Given the description of an element on the screen output the (x, y) to click on. 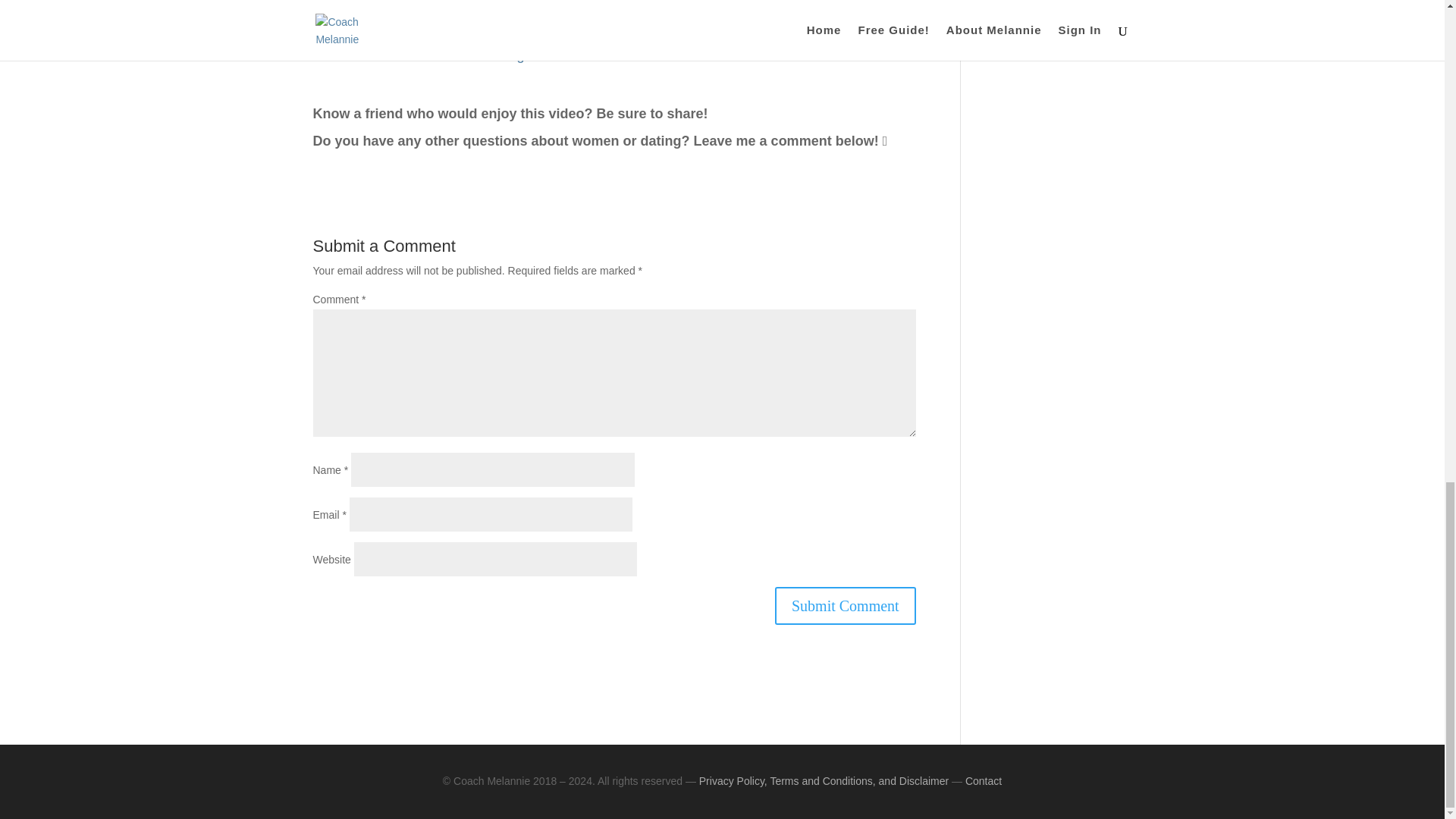
How to Flirt with Women and Attract Them (613, 23)
Contact (983, 780)
Privacy Policy, Terms and Conditions, and Disclaimer (823, 780)
Submit Comment (844, 605)
Submit Comment (844, 605)
Signs a Female Coworker Likes You (614, 55)
